Given the description of an element on the screen output the (x, y) to click on. 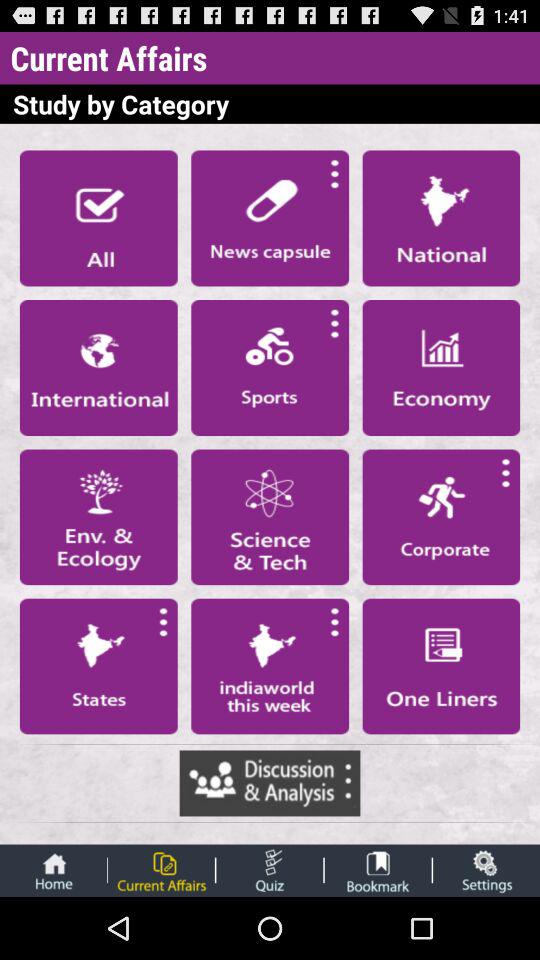
view discussion (270, 783)
